Given the description of an element on the screen output the (x, y) to click on. 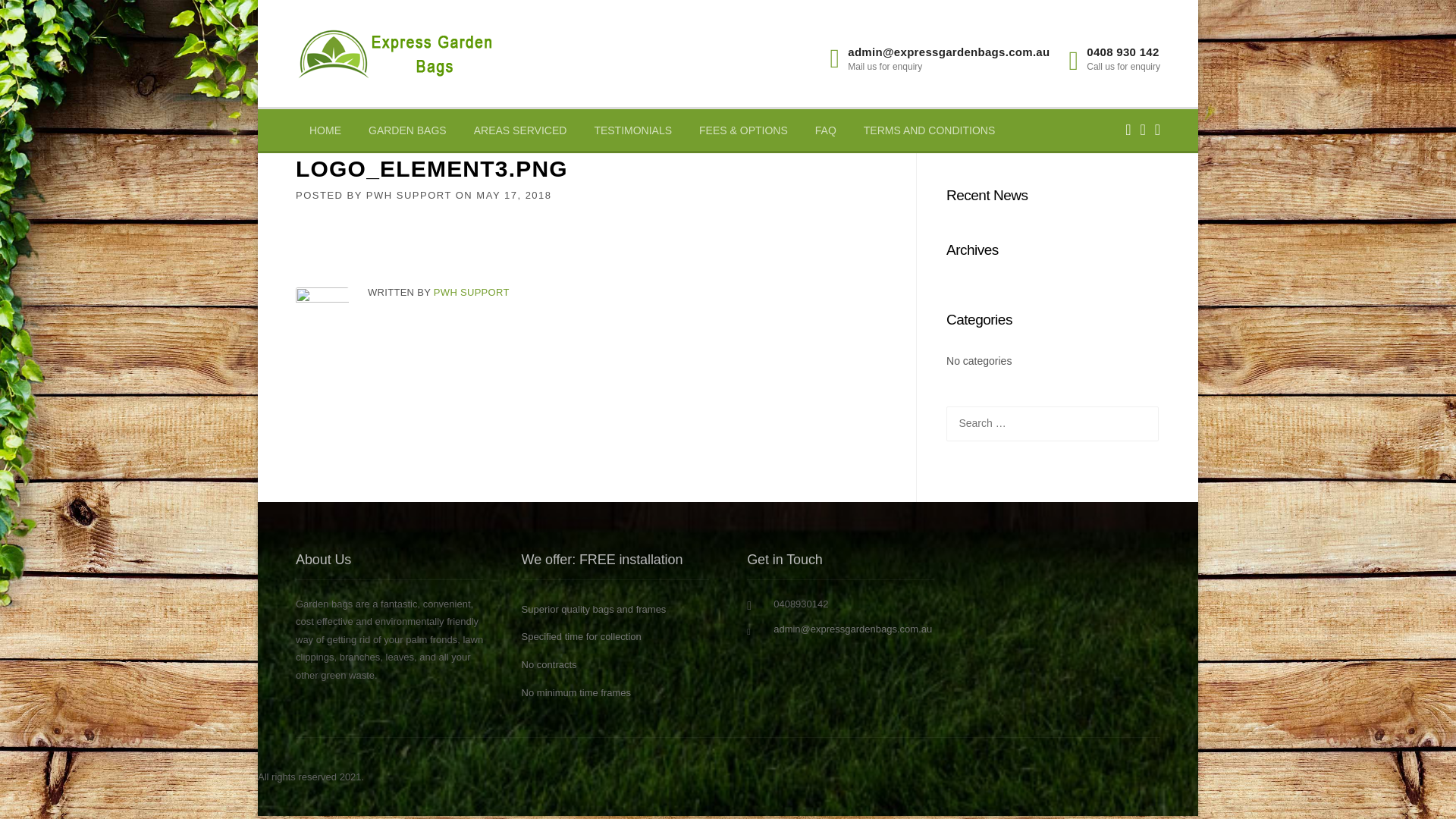
Twitter Element type: hover (1127, 129)
No minimum time frames Element type: text (575, 692)
Specified time for collection Element type: text (581, 636)
No contracts Element type: text (549, 664)
MAY 17, 2018 Element type: text (513, 194)
TERMS AND CONDITIONS Element type: text (929, 131)
Superior quality bags and frames Element type: text (593, 609)
admin@expressgardenbags.com.au Element type: text (852, 628)
FAQ Element type: text (825, 131)
GARDEN BAGS Element type: text (407, 131)
TESTIMONIALS Element type: text (632, 131)
FEES & OPTIONS Element type: text (743, 131)
Facebook Element type: hover (1142, 129)
AREAS SERVICED Element type: text (520, 131)
HOME Element type: text (324, 131)
PWH SUPPORT Element type: text (471, 292)
Express Garden Bags Element type: hover (393, 52)
Search Element type: text (40, 18)
Google Plus Element type: hover (1157, 129)
PWH SUPPORT Element type: text (408, 194)
